Given the description of an element on the screen output the (x, y) to click on. 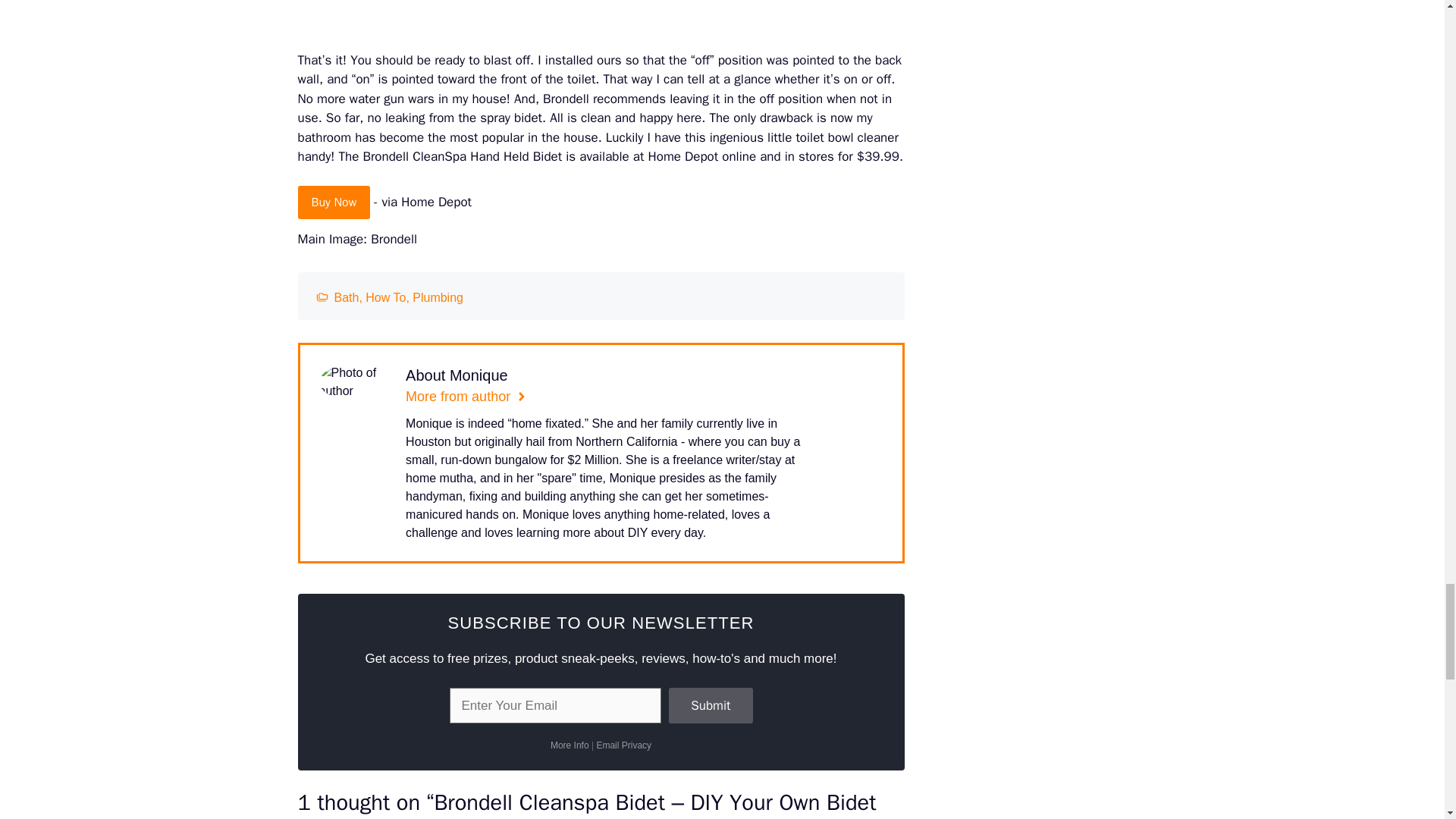
Bath (345, 297)
Plumbing (437, 297)
Submit (710, 705)
Submit (710, 705)
Buy Now (333, 202)
More from author (466, 396)
More Info (569, 745)
Email Privacy (622, 745)
How To (385, 297)
